Given the description of an element on the screen output the (x, y) to click on. 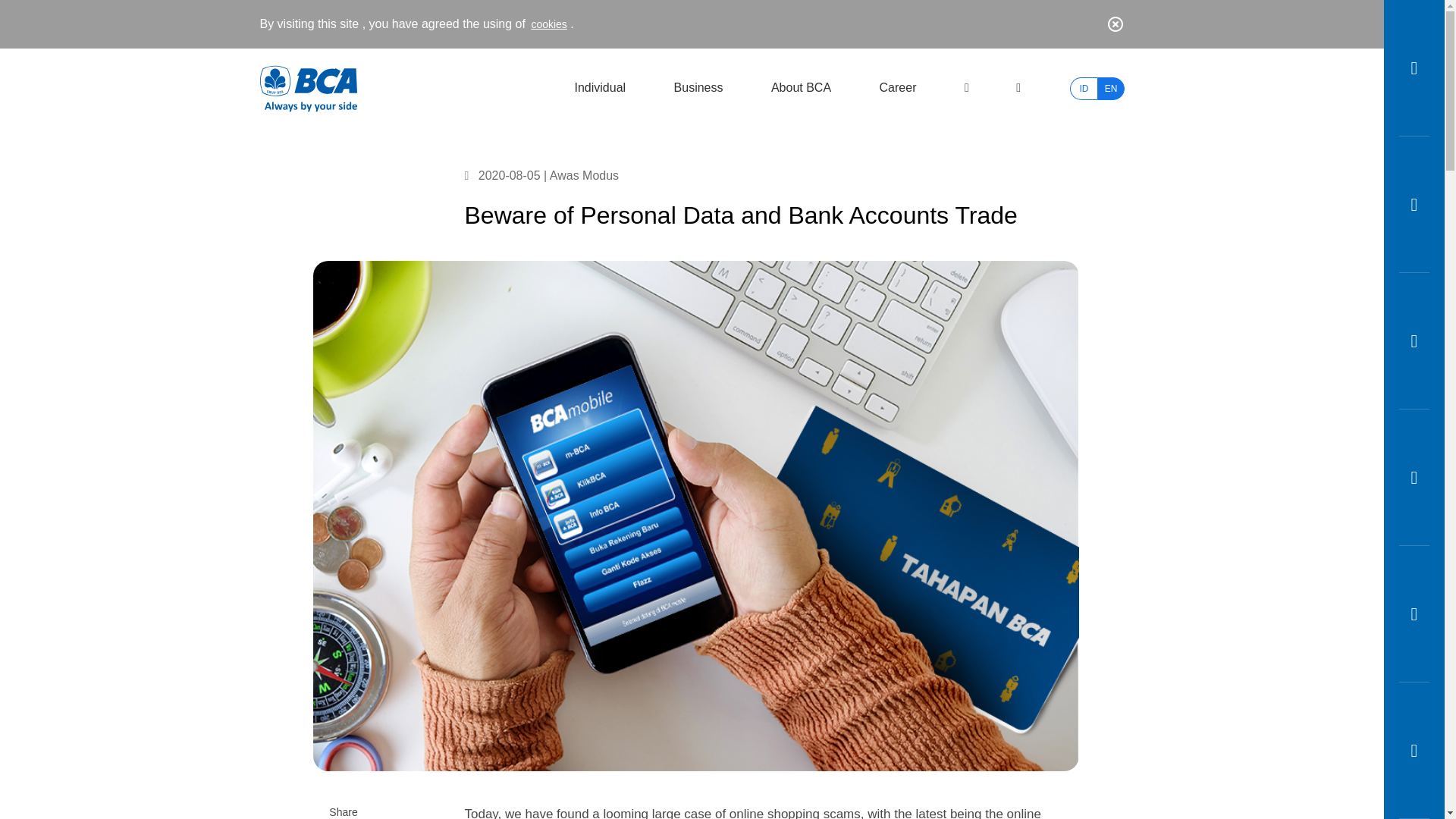
Career (898, 100)
Business (697, 94)
About BCA (800, 97)
cookies (547, 24)
Individual (599, 92)
